Given the description of an element on the screen output the (x, y) to click on. 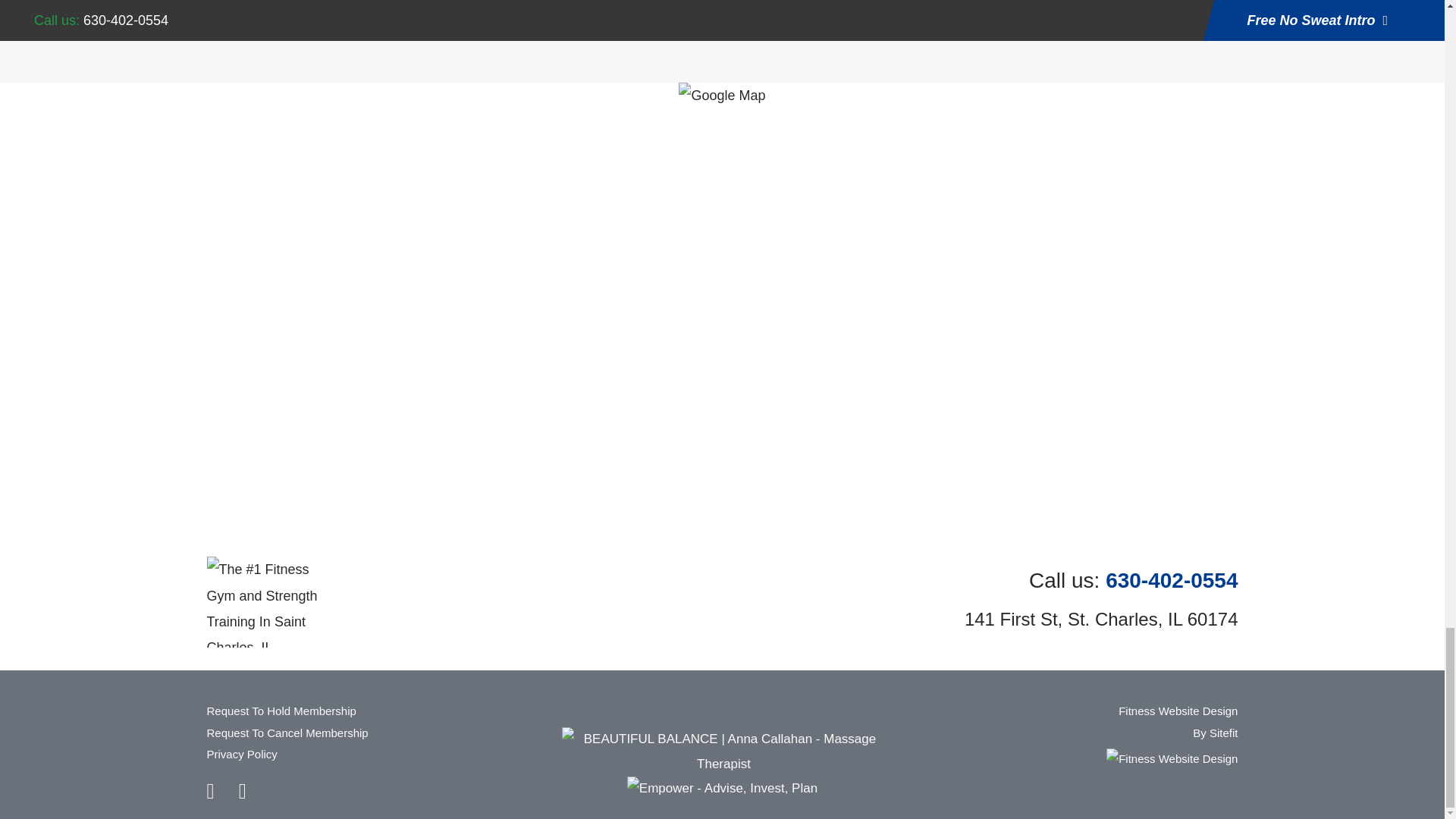
Fitness Website Design (1177, 721)
Empower - Advise, Invest, Plan (721, 788)
Sign up now (425, 3)
Fitness Website Design (1171, 757)
